Given the description of an element on the screen output the (x, y) to click on. 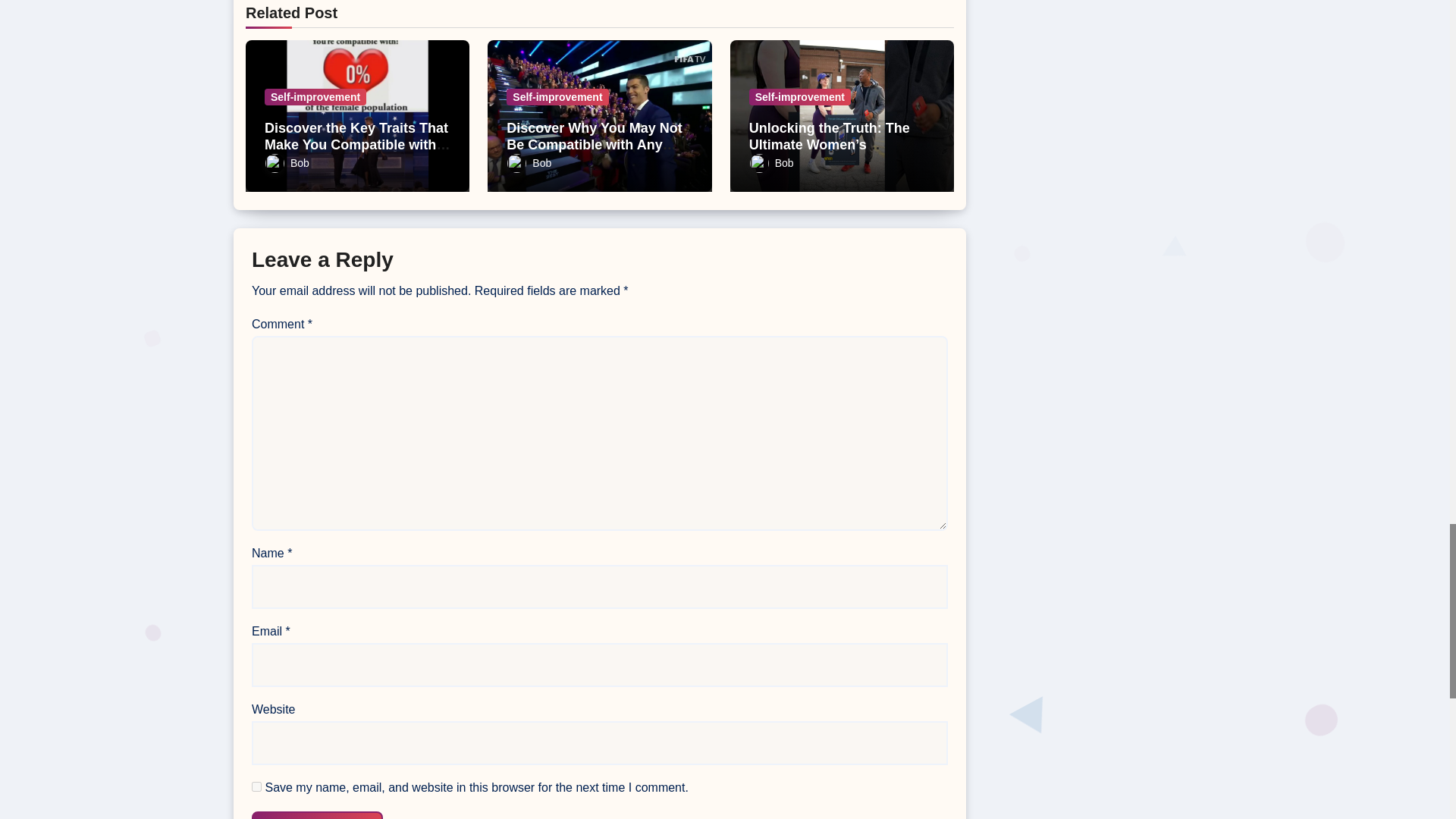
Post Comment (316, 815)
Self-improvement (315, 96)
Bob (286, 162)
yes (256, 786)
